Given the description of an element on the screen output the (x, y) to click on. 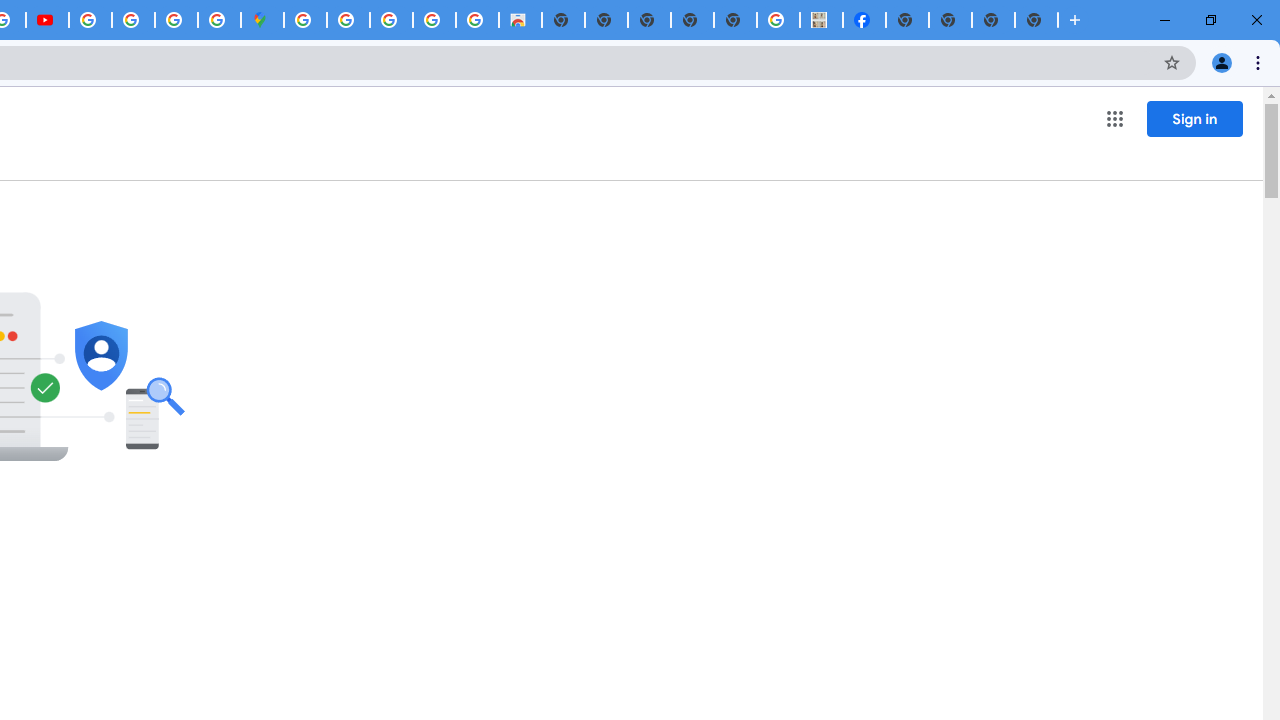
Subscriptions - YouTube (47, 20)
Miley Cyrus | Facebook (864, 20)
New Tab (907, 20)
How Chrome protects your passwords - Google Chrome Help (90, 20)
Chrome Web Store - Shopping (520, 20)
Sign in - Google Accounts (305, 20)
MILEY CYRUS. (821, 20)
